Given the description of an element on the screen output the (x, y) to click on. 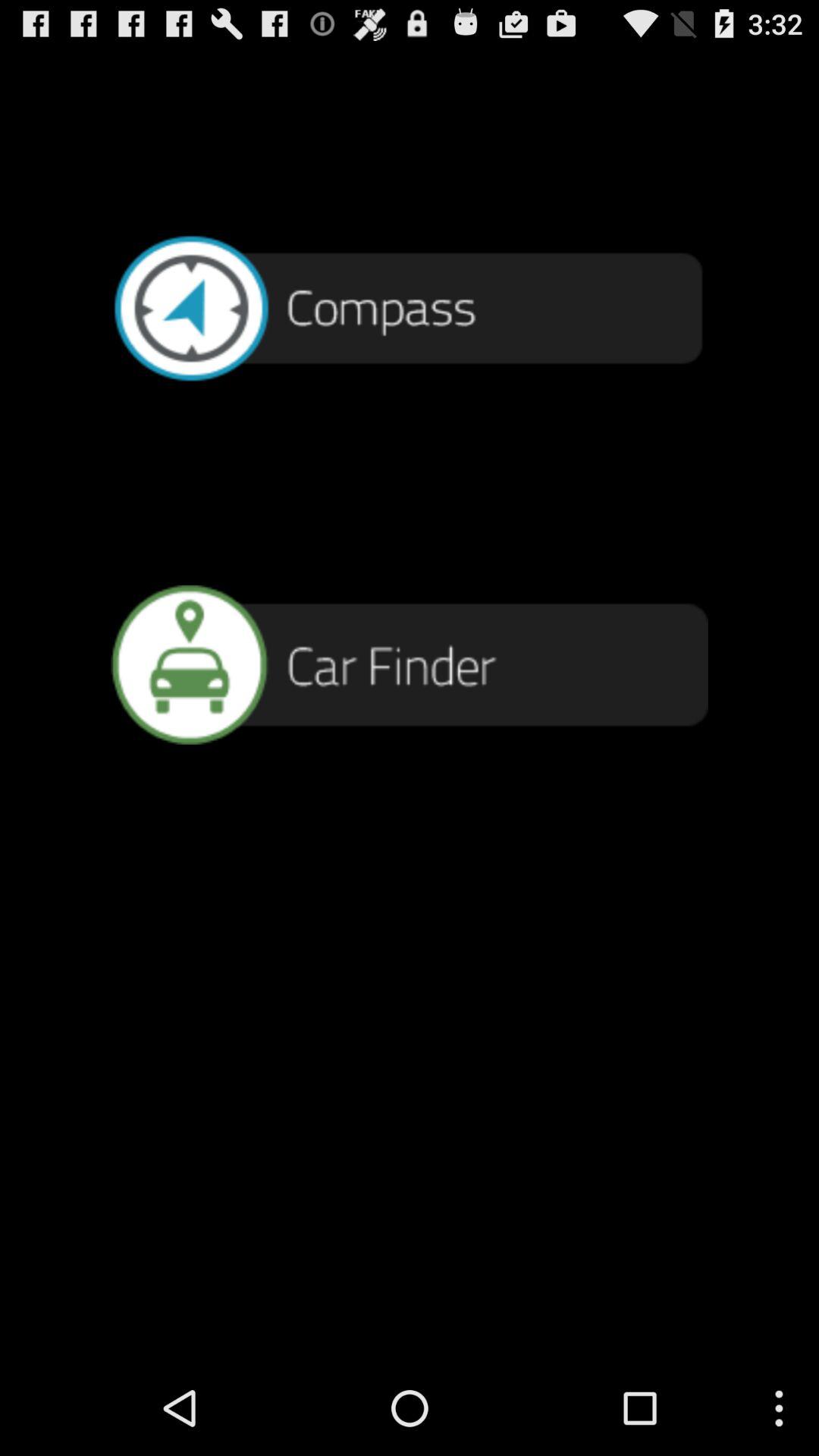
go to location (409, 664)
